Given the description of an element on the screen output the (x, y) to click on. 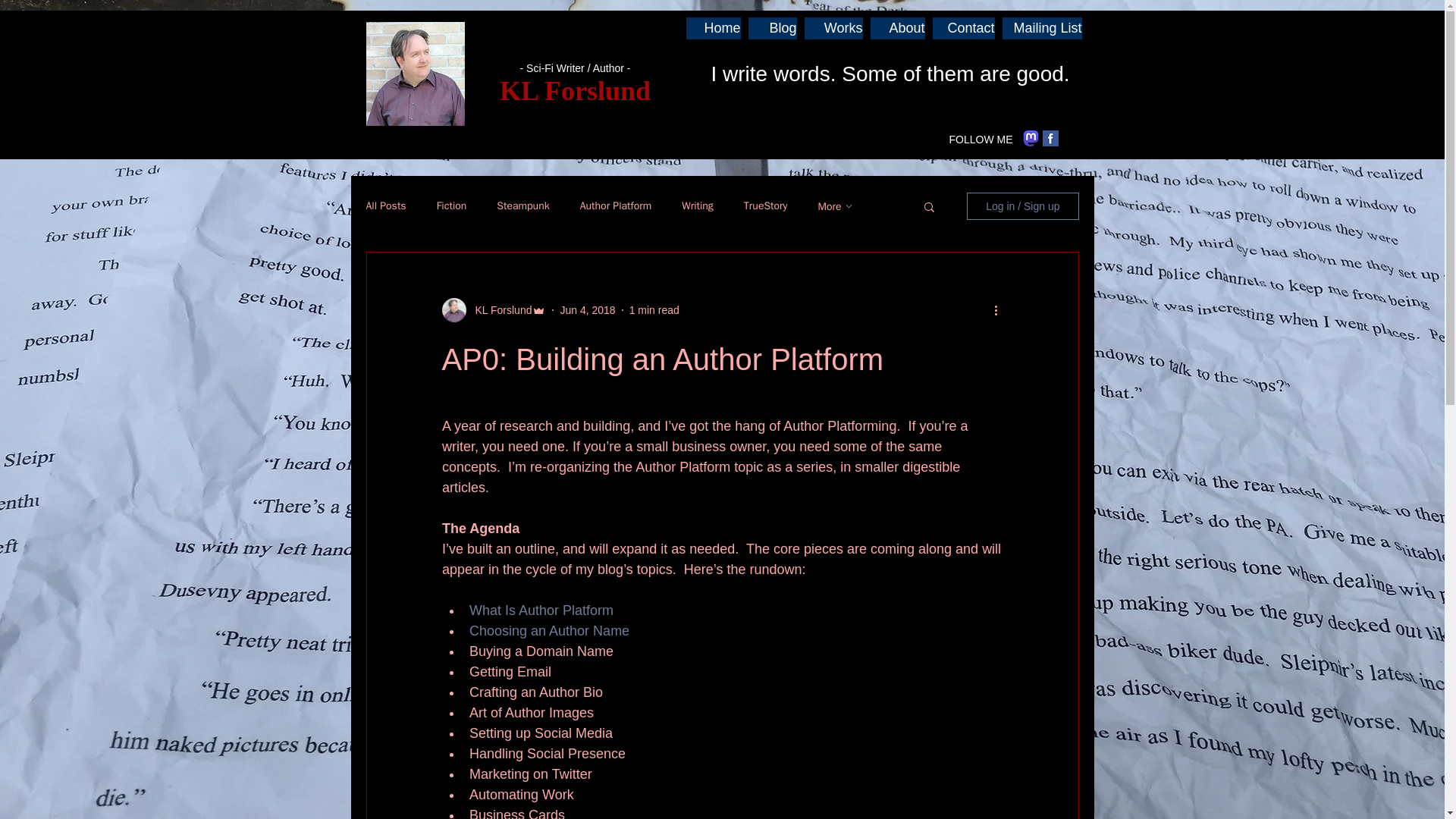
KL Forslund (574, 91)
Works (832, 28)
1 min read (653, 309)
Choosing an Author Name (548, 630)
What Is Author Platform (540, 610)
Blog (772, 28)
About (897, 28)
KL Forslund (498, 310)
Jun 4, 2018 (586, 309)
TrueStory (765, 205)
Writing (697, 205)
Mailing List (1042, 28)
Steampunk (522, 205)
All Posts (385, 205)
Fiction (451, 205)
